Given the description of an element on the screen output the (x, y) to click on. 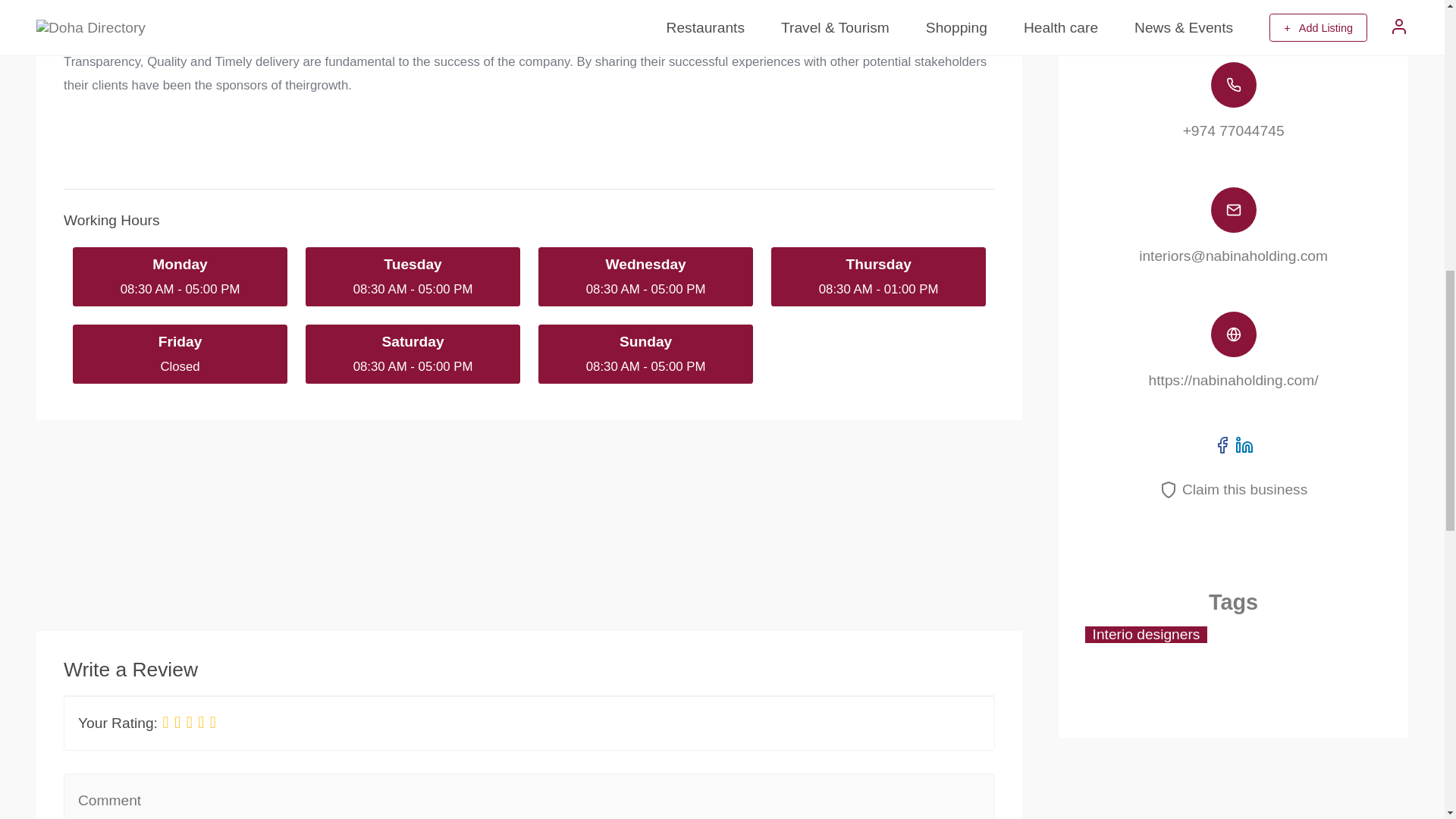
Open in Google Maps (1232, 8)
Interio designers (1145, 634)
Claim this business (1233, 489)
